Given the description of an element on the screen output the (x, y) to click on. 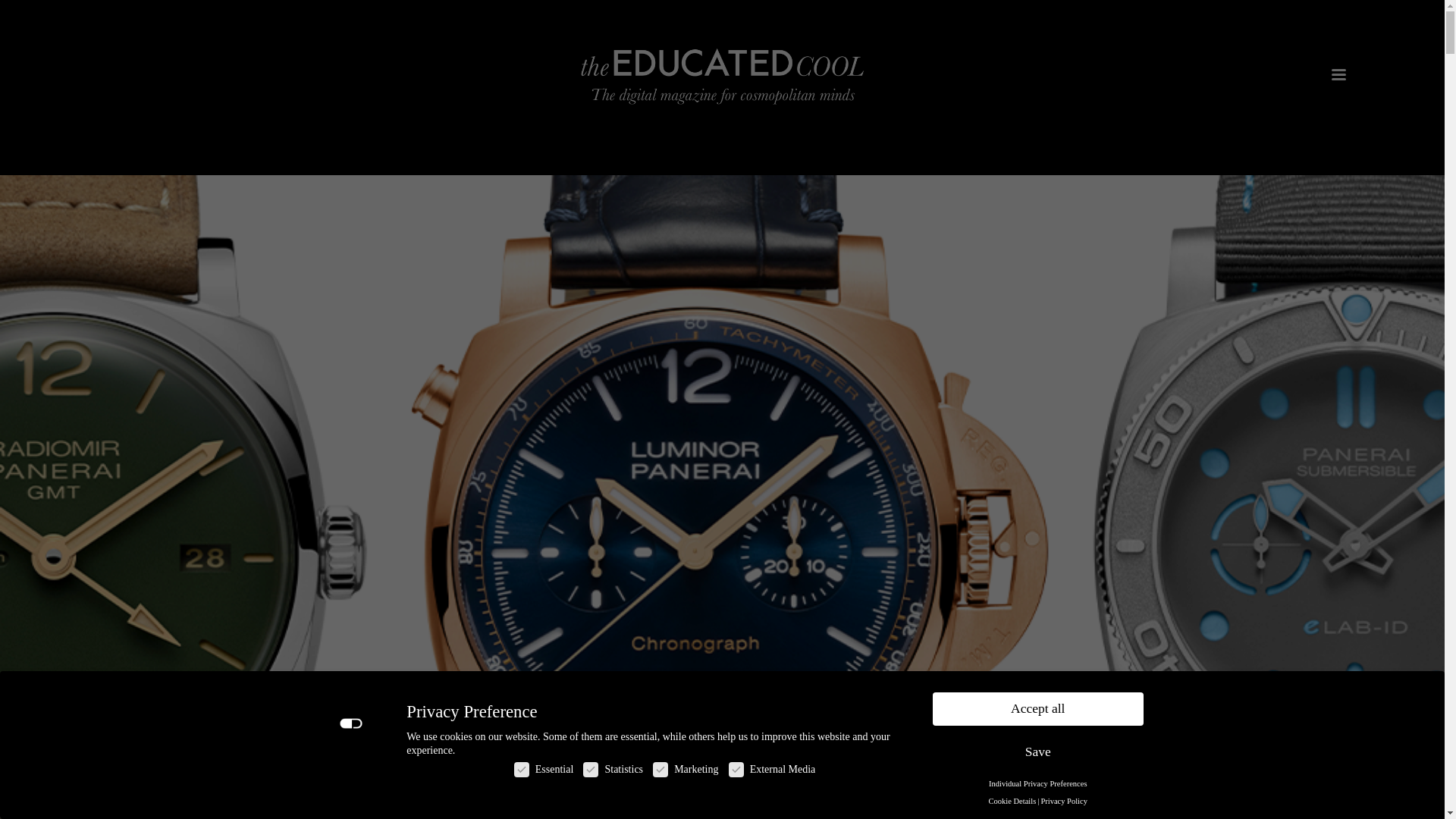
Accept all (1037, 708)
Individual Privacy Preferences (1037, 783)
Save (1037, 752)
